Given the description of an element on the screen output the (x, y) to click on. 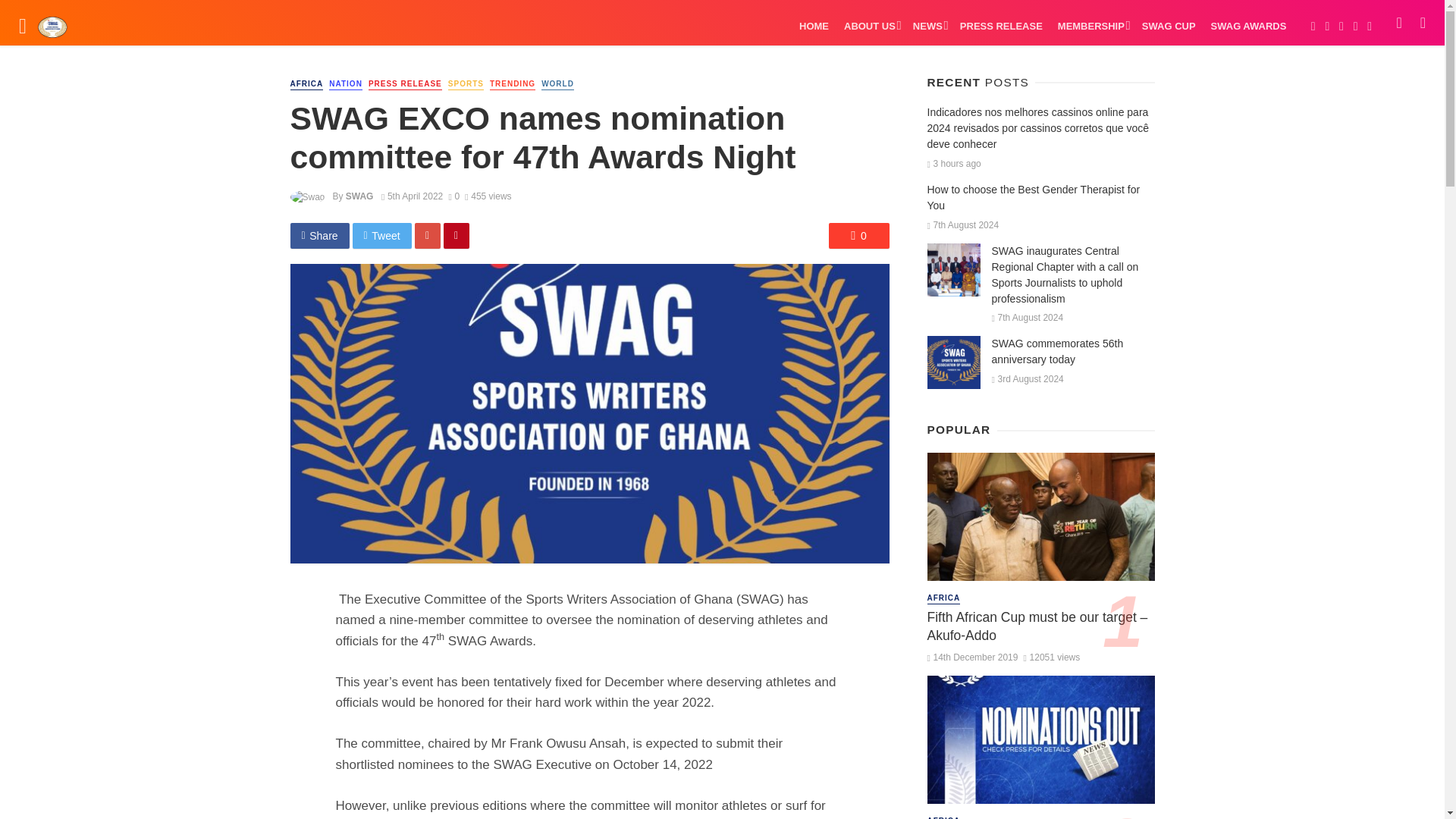
SPORTS (465, 84)
PRESS RELEASE (405, 84)
SWAG CUP (1169, 26)
ABOUT US (870, 26)
NEWS (928, 26)
MEMBERSHIP (1091, 26)
SWAG AWARDS (1249, 26)
TRENDING (512, 84)
April 5, 2022 at 3:36 pm (411, 195)
HOME (813, 26)
